Given the description of an element on the screen output the (x, y) to click on. 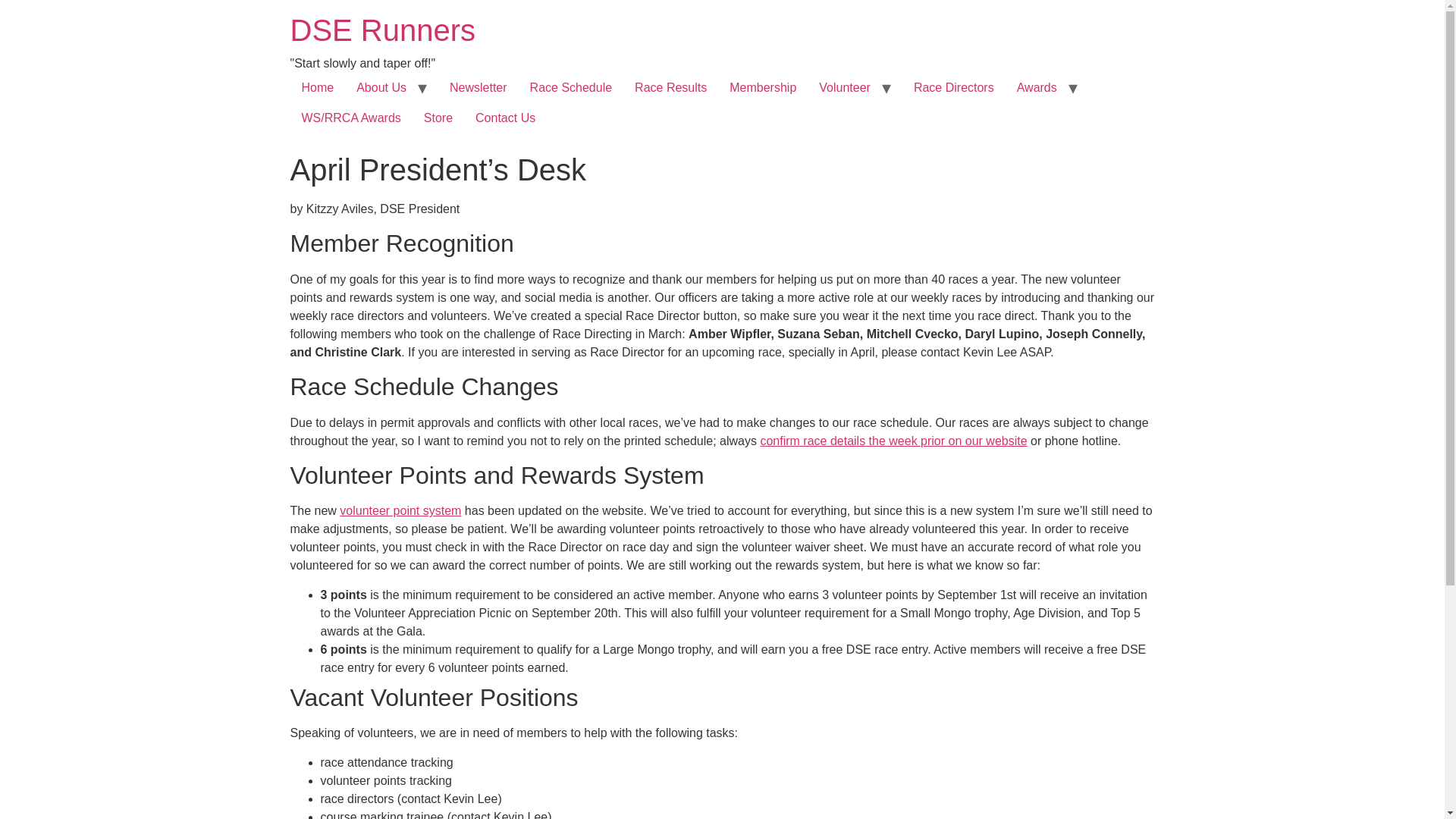
Newsletter (478, 87)
Membership (762, 87)
Awards (1037, 87)
Race Schedule (571, 87)
Volunteer (845, 87)
Contact Us (505, 118)
Store (438, 118)
Volunteer Points and Rewards (400, 510)
Calendar (893, 440)
Race Directors (954, 87)
Home (317, 87)
Race Results (670, 87)
DSE Runners (382, 29)
About Us (381, 87)
Home (382, 29)
